Given the description of an element on the screen output the (x, y) to click on. 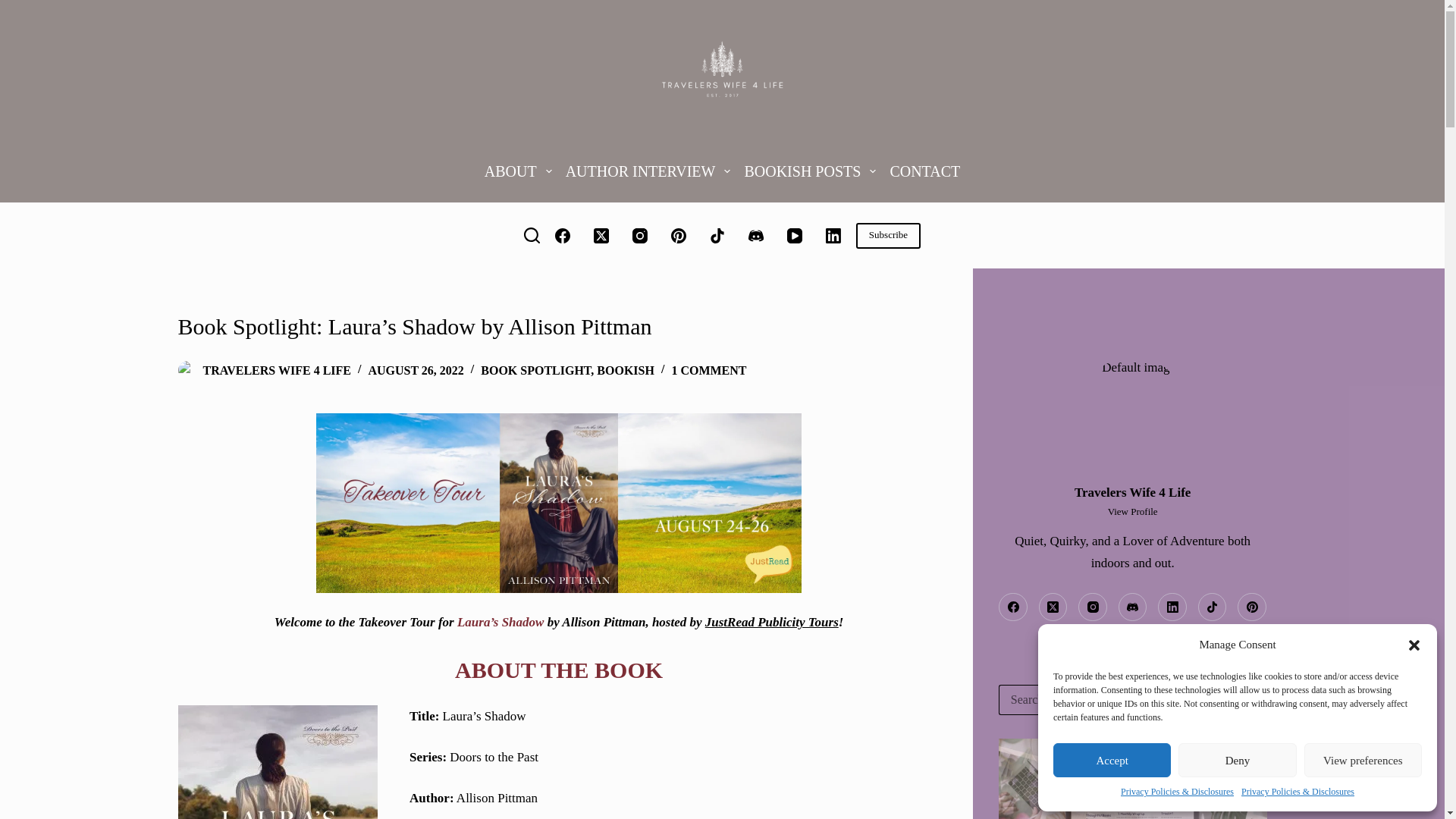
Posts by Travelers Wife 4 Life (276, 369)
Bookstagram ideas (1132, 778)
Deny (1236, 759)
View preferences (1363, 759)
Accept (1111, 759)
Skip to content (15, 7)
Search for... (1117, 699)
